Given the description of an element on the screen output the (x, y) to click on. 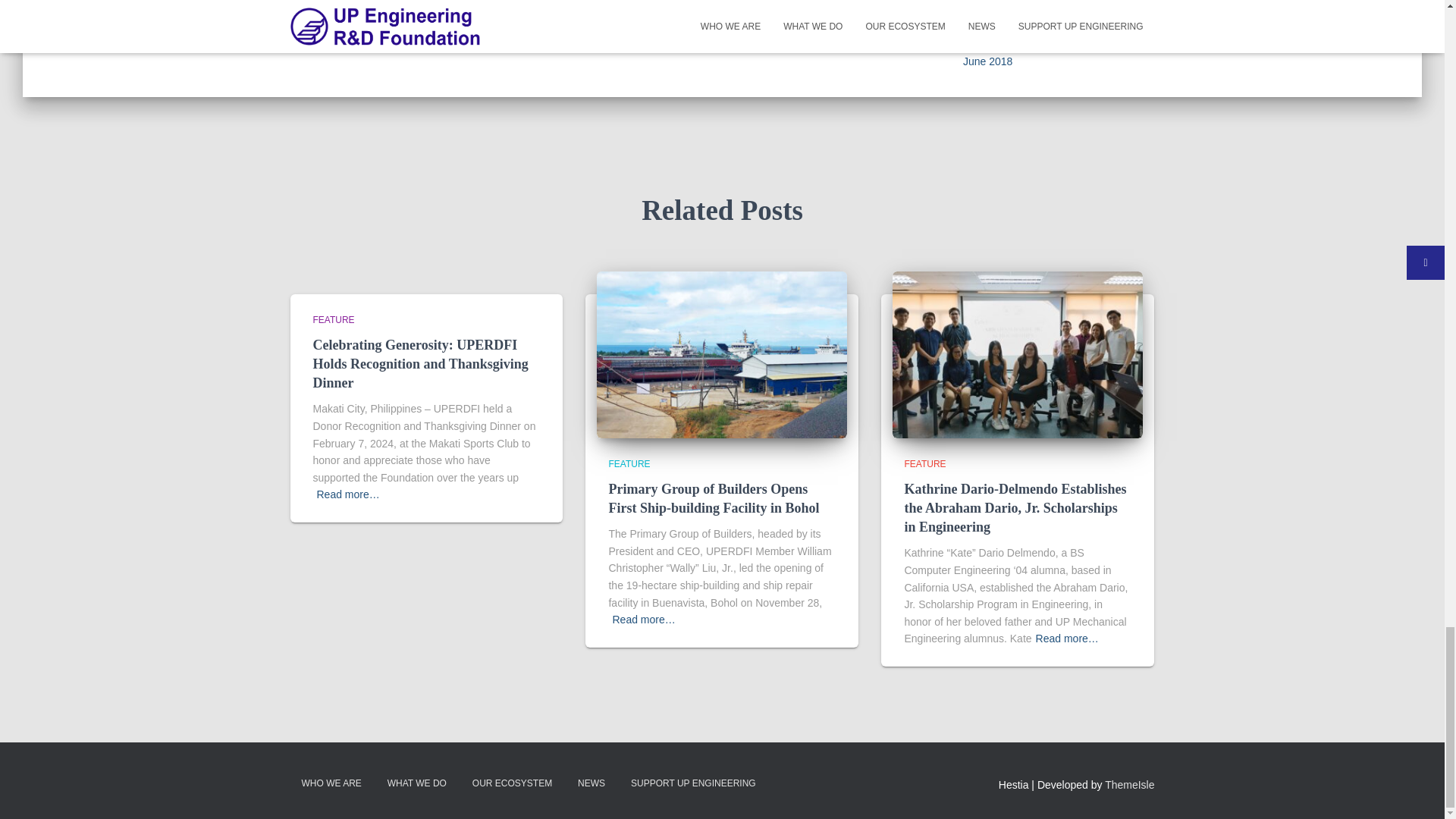
View all posts in Feature (333, 319)
View all posts in Feature (628, 463)
View all posts in Feature (924, 463)
